Given the description of an element on the screen output the (x, y) to click on. 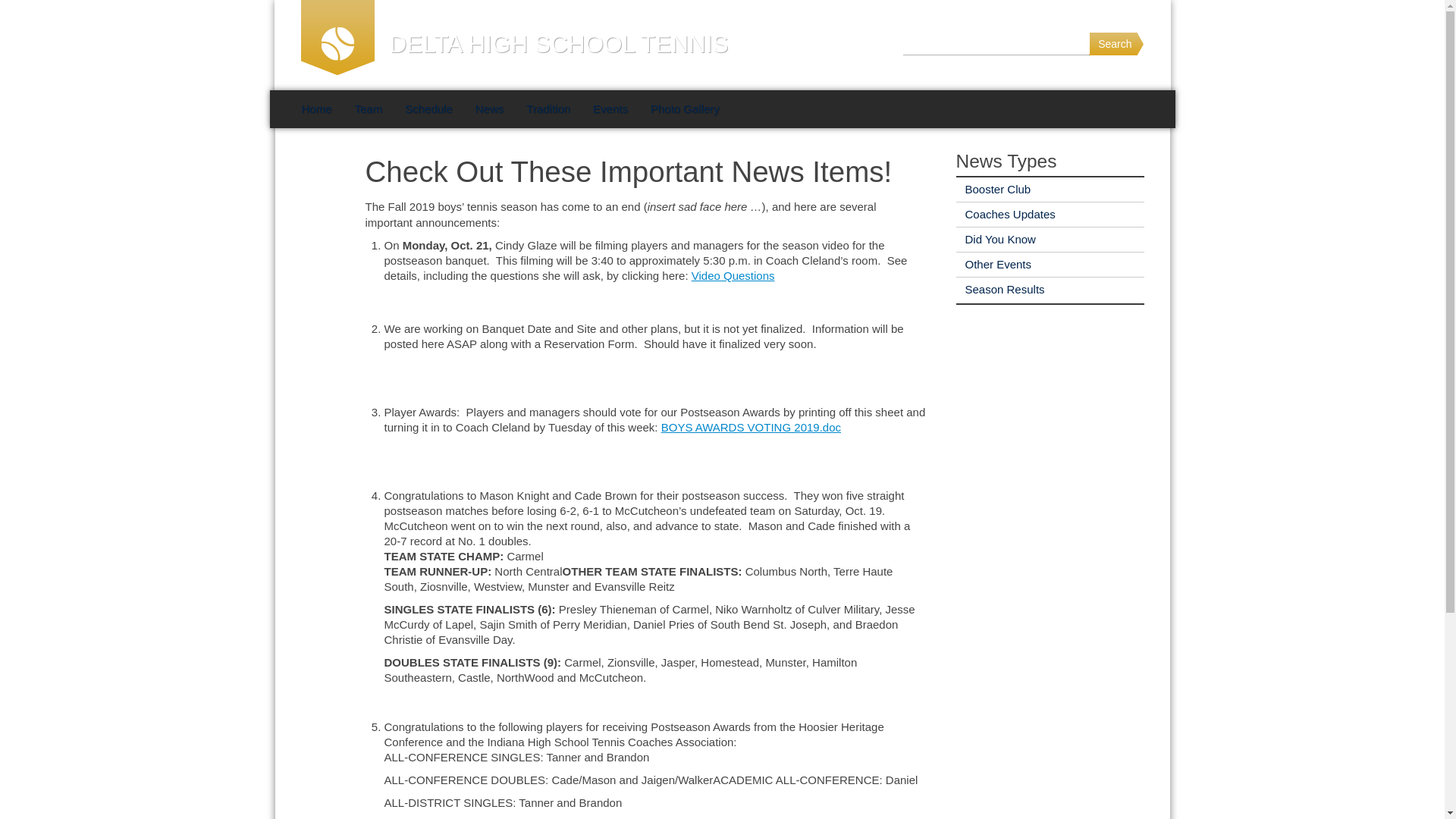
Search (1115, 43)
Home (315, 108)
Video Questions (732, 275)
News (489, 108)
Events (609, 108)
Did You Know (995, 238)
DELTA HIGH SCHOOL TENNIS (513, 45)
Tradition (547, 108)
Coaches Updates (1004, 214)
Team (368, 108)
Season Results (999, 288)
Photo Gallery (684, 108)
BOYS AWARDS VOTING 2019.doc (751, 427)
Booster Club (992, 188)
Other Events (992, 264)
